Given the description of an element on the screen output the (x, y) to click on. 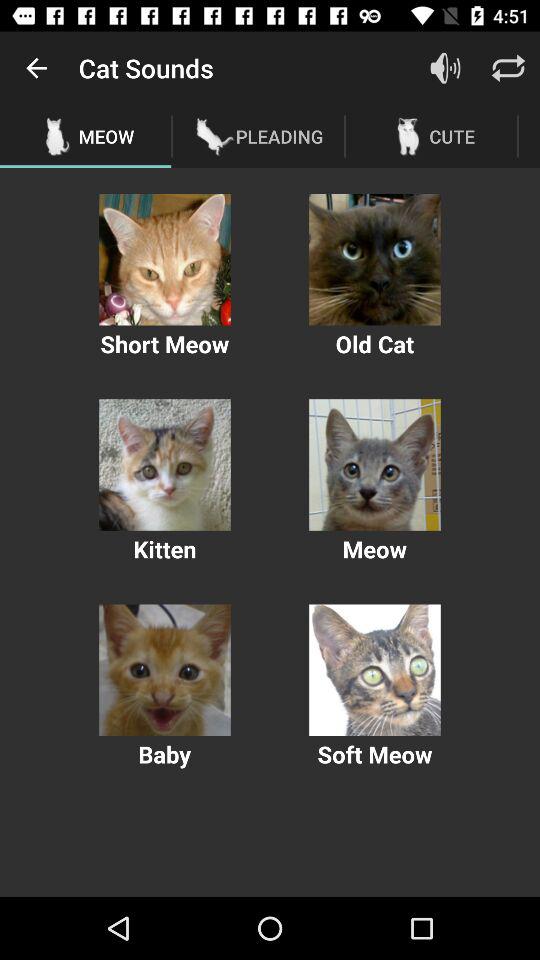
play sound (374, 464)
